Given the description of an element on the screen output the (x, y) to click on. 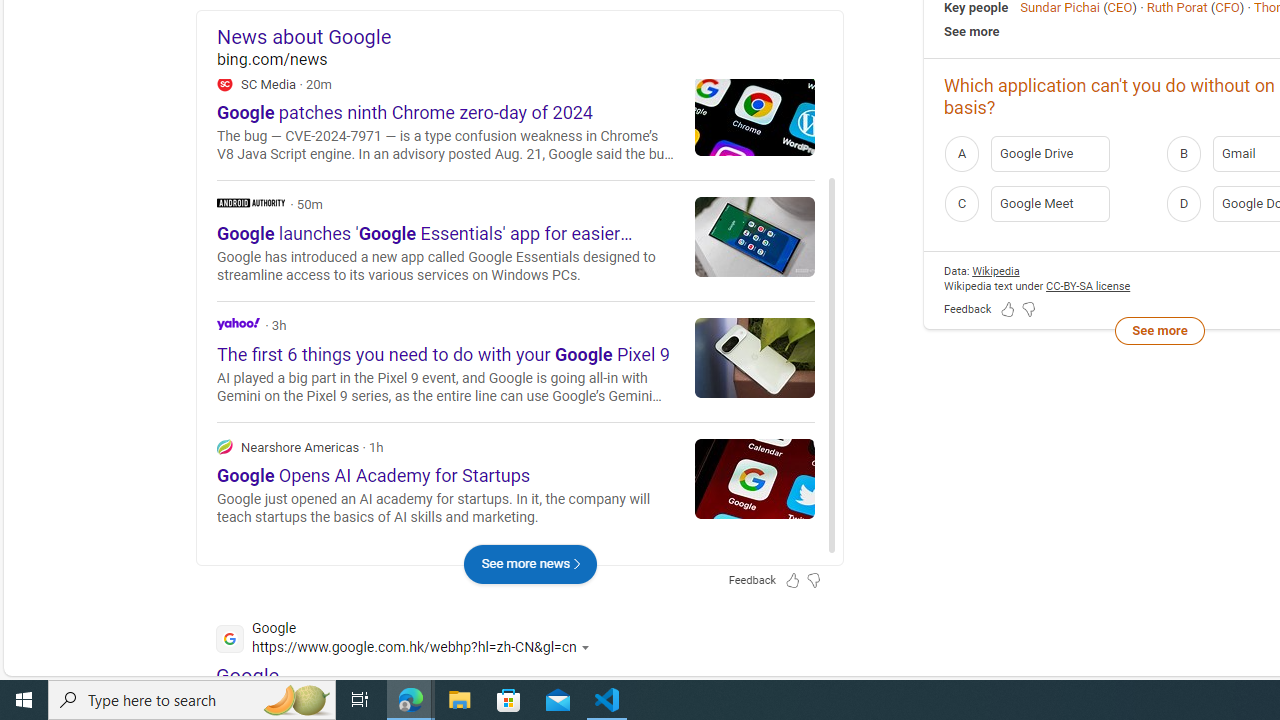
Yahoo (516, 360)
Google Opens AI Academy for Startups (755, 478)
Google patches ninth Chrome zero-day of 2024 (755, 115)
Like (695, 129)
